Given the description of an element on the screen output the (x, y) to click on. 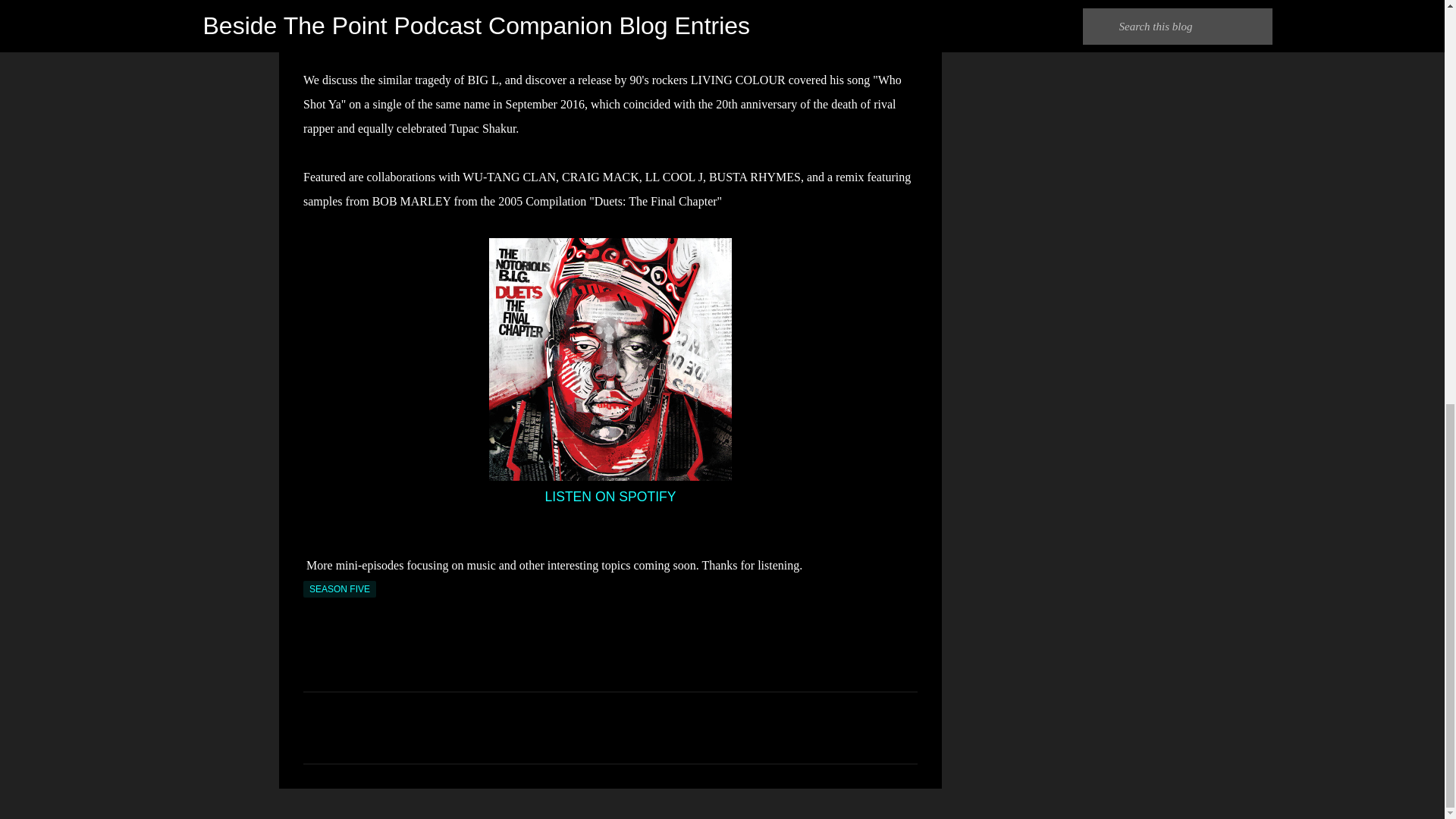
SEASON FIVE (338, 588)
LISTEN ON SPOTIFY (609, 496)
